Given the description of an element on the screen output the (x, y) to click on. 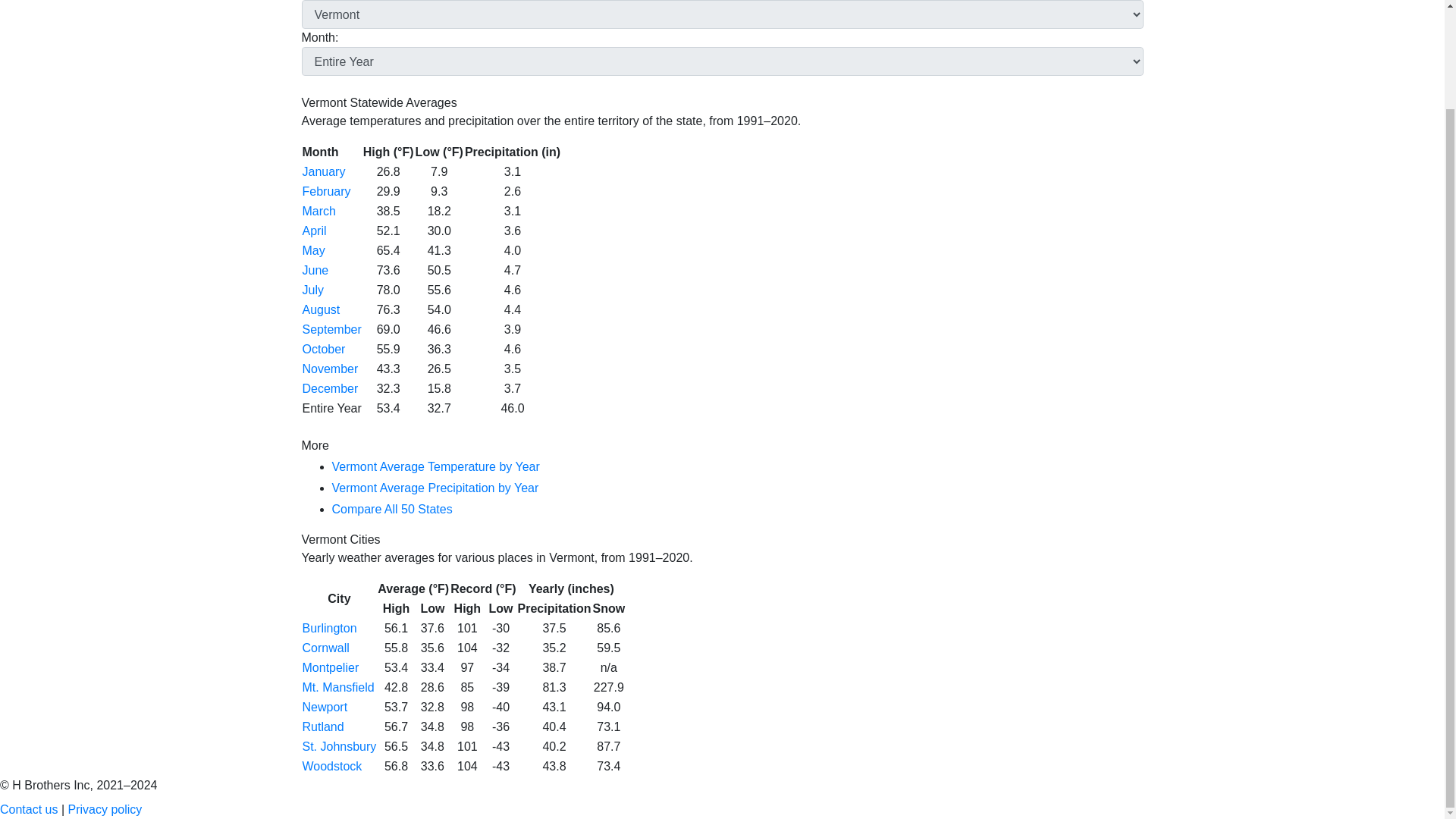
Burlington (328, 627)
November (329, 368)
Rutland (322, 726)
April (313, 230)
December (329, 388)
Mt. Mansfield (337, 686)
Privacy policy (105, 809)
October (323, 349)
July (312, 289)
Compare All 50 States (391, 508)
Woodstock (331, 766)
May (312, 250)
Newport (324, 707)
March (317, 210)
June (315, 269)
